Given the description of an element on the screen output the (x, y) to click on. 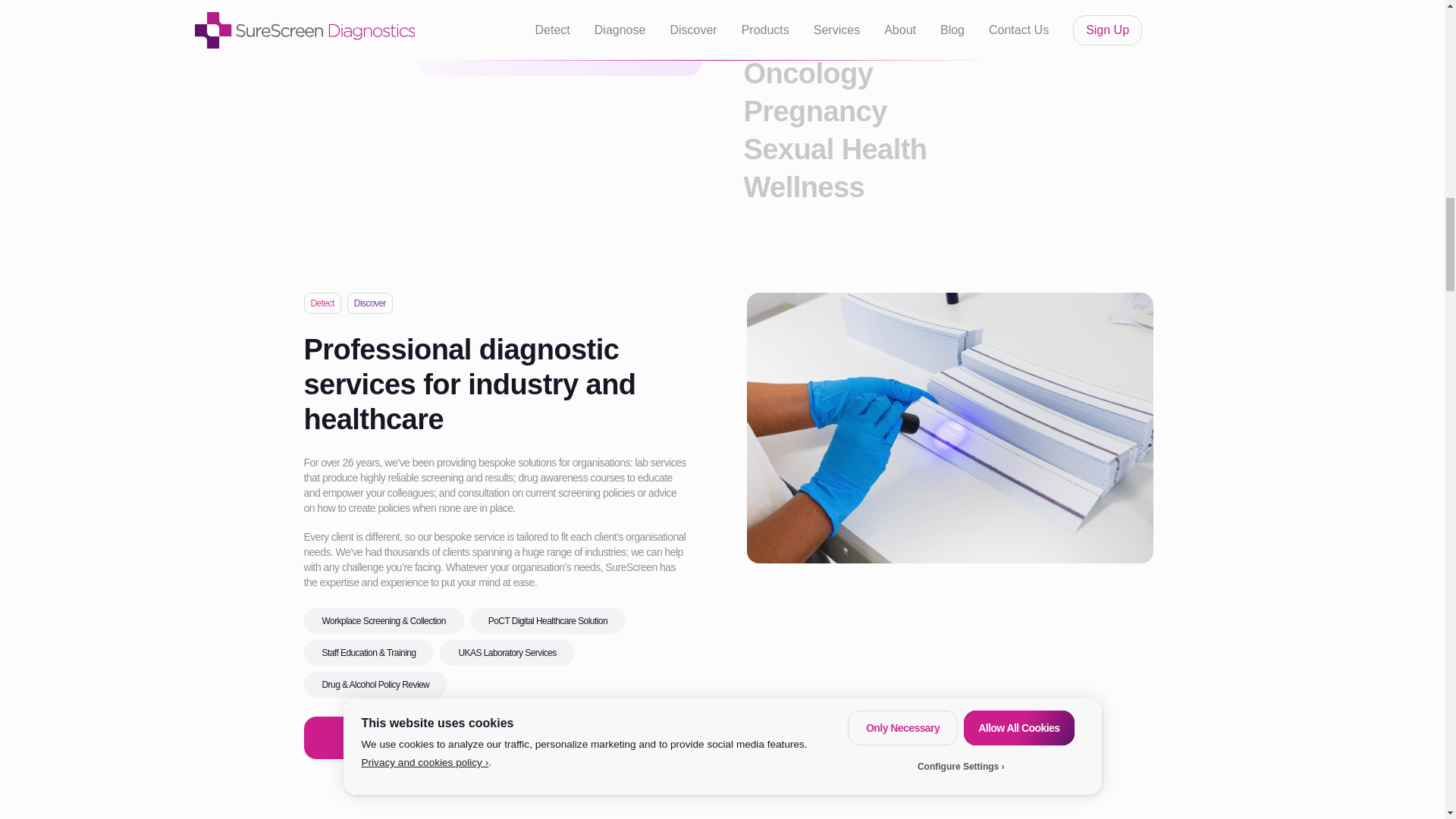
Talk to Us (393, 736)
View Services (582, 737)
View product range (559, 42)
